Given the description of an element on the screen output the (x, y) to click on. 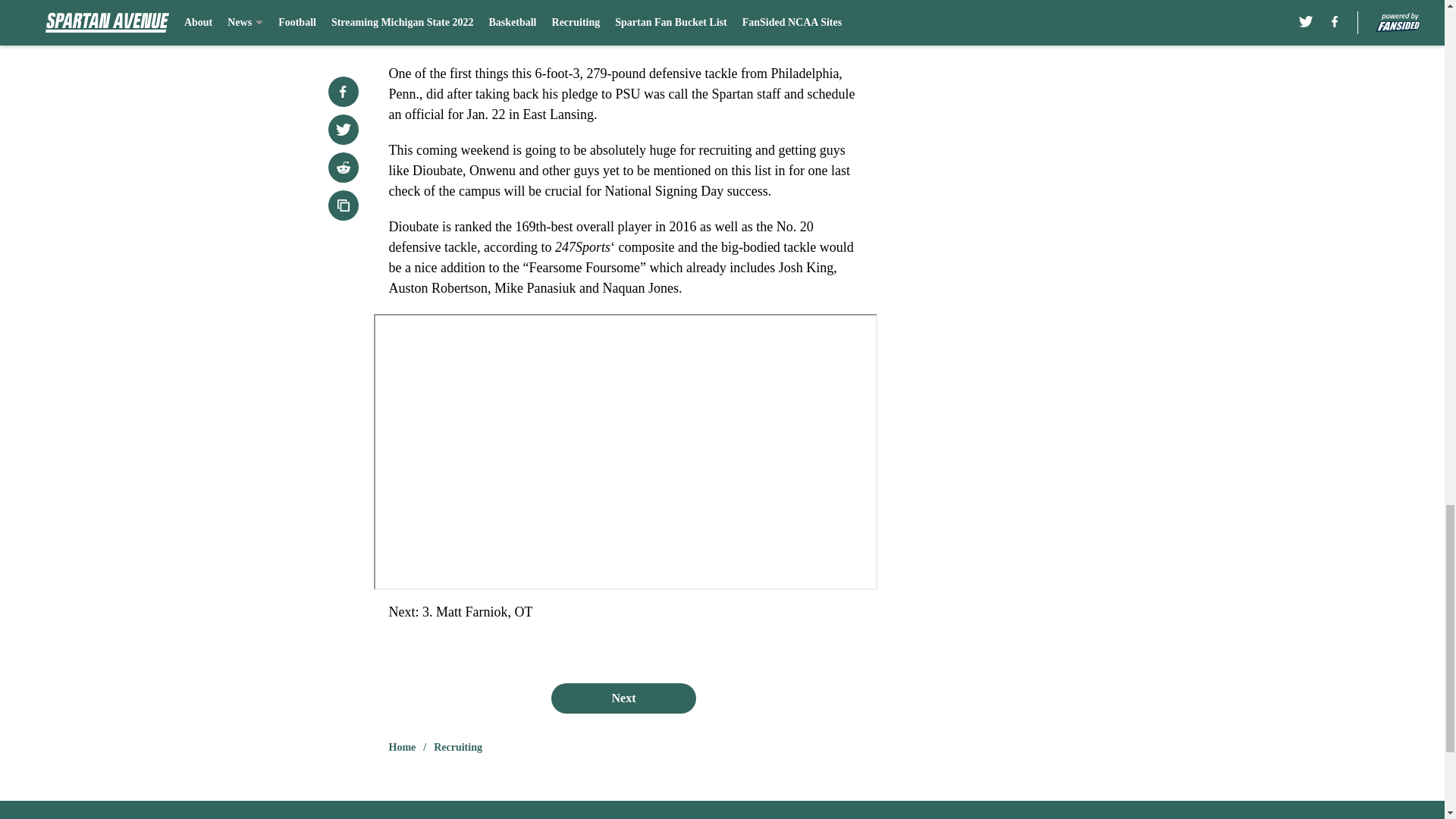
Next (622, 698)
Home (401, 747)
Recruiting (457, 747)
